Given the description of an element on the screen output the (x, y) to click on. 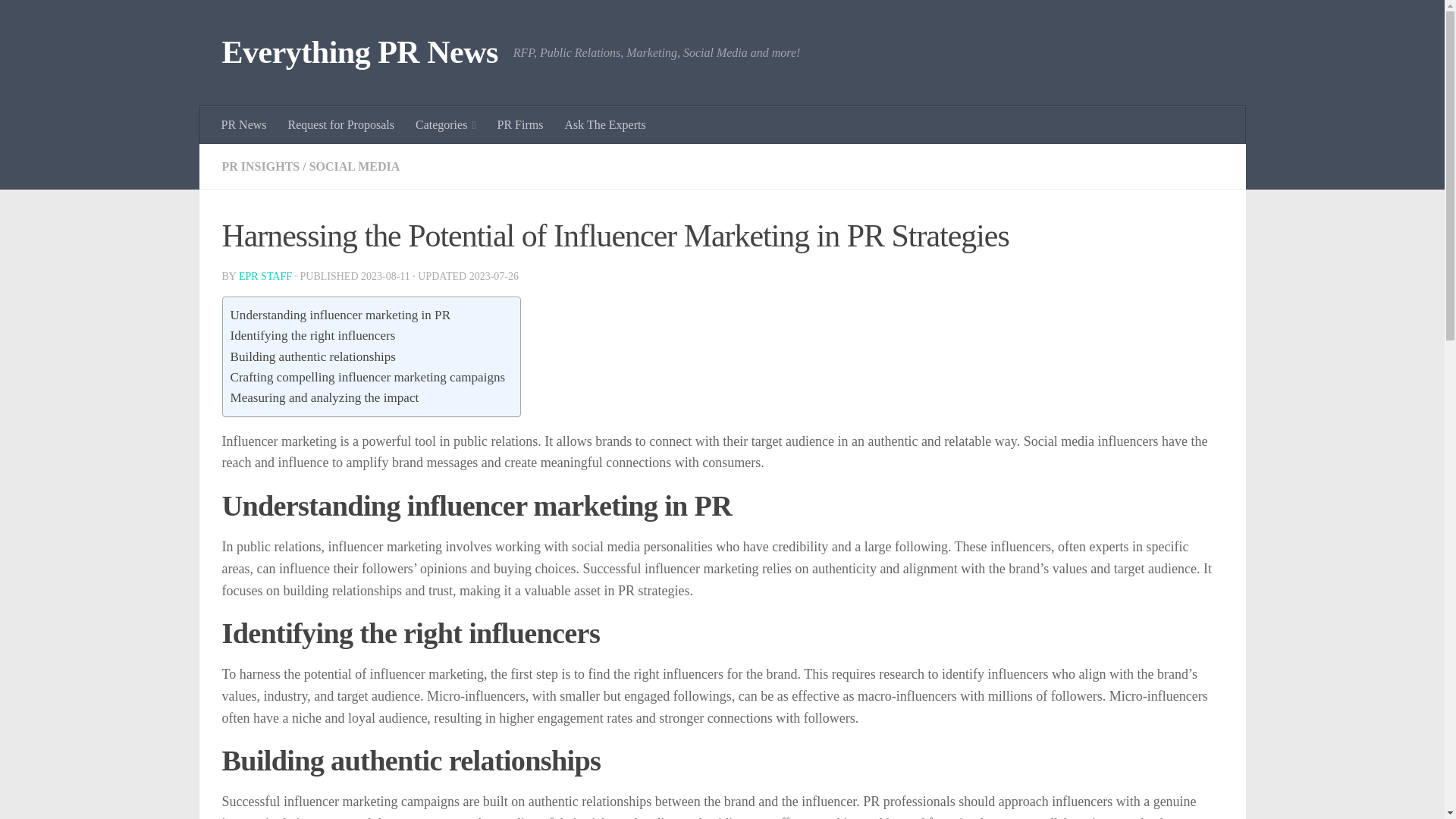
Everything PR News (359, 53)
Identifying the right influencers (313, 335)
Posts by EPR Staff (265, 276)
Measuring and analyzing the impact (324, 397)
Skip to content (59, 20)
Request for Proposals (341, 125)
Categories (445, 125)
Crafting compelling influencer marketing campaigns (367, 376)
PR News (244, 125)
Understanding influencer marketing in PR (340, 314)
Building authentic relationships (313, 356)
